Given the description of an element on the screen output the (x, y) to click on. 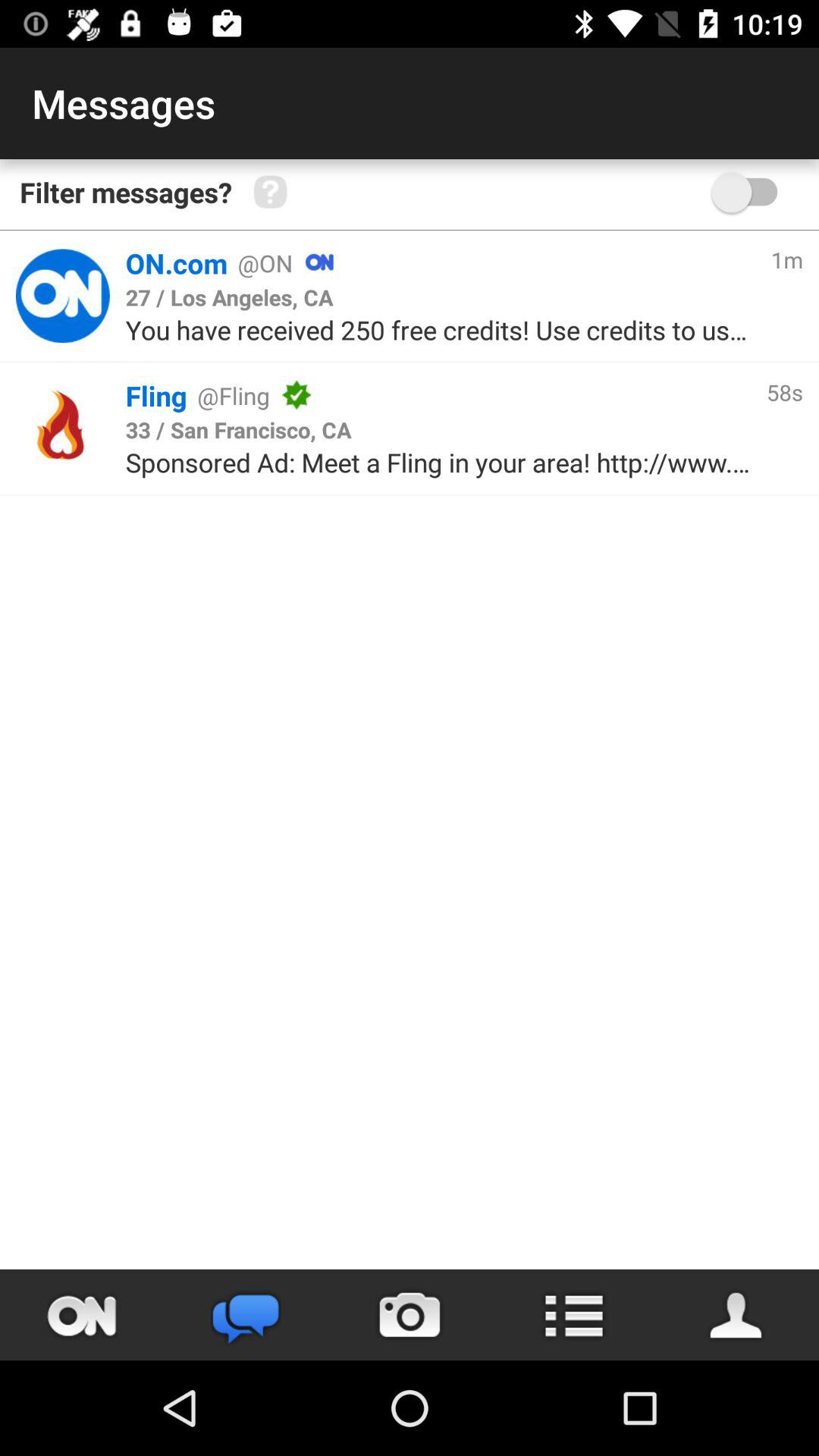
jump to the sponsored ad meet (437, 462)
